Given the description of an element on the screen output the (x, y) to click on. 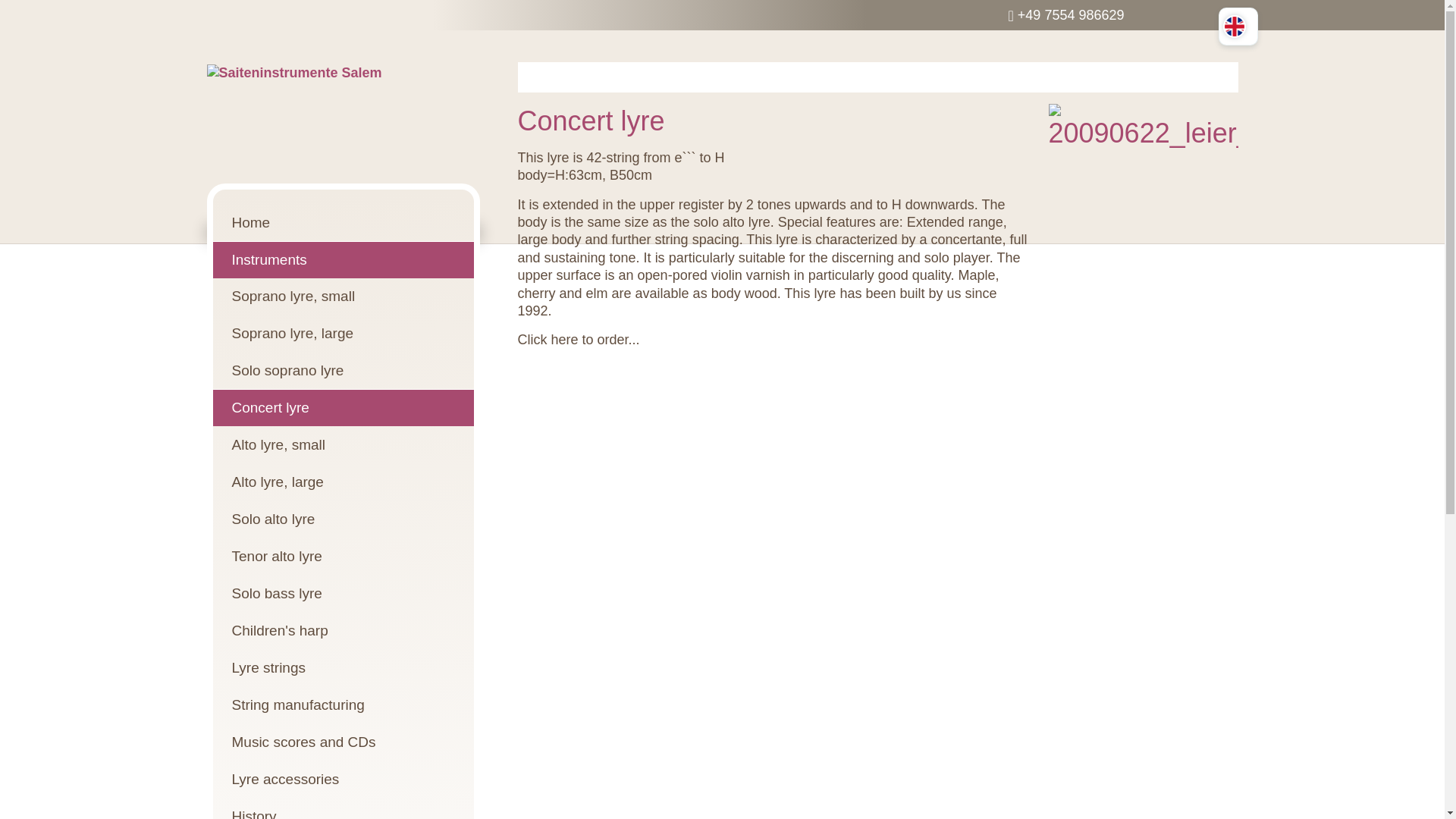
Children's harp (342, 630)
Solo soprano lyre (342, 370)
Solo bass lyre (342, 592)
Home (342, 222)
Instruments (342, 259)
Soprano lyre, small (342, 296)
Music scores and CDs (342, 741)
Tenor alto lyre (342, 555)
Soprano lyre, large (342, 333)
Alto lyre, small (342, 444)
History (342, 808)
Concert lyre (342, 407)
Solo alto lyre (342, 518)
String manufacturing (342, 704)
Lyre accessories (342, 778)
